Given the description of an element on the screen output the (x, y) to click on. 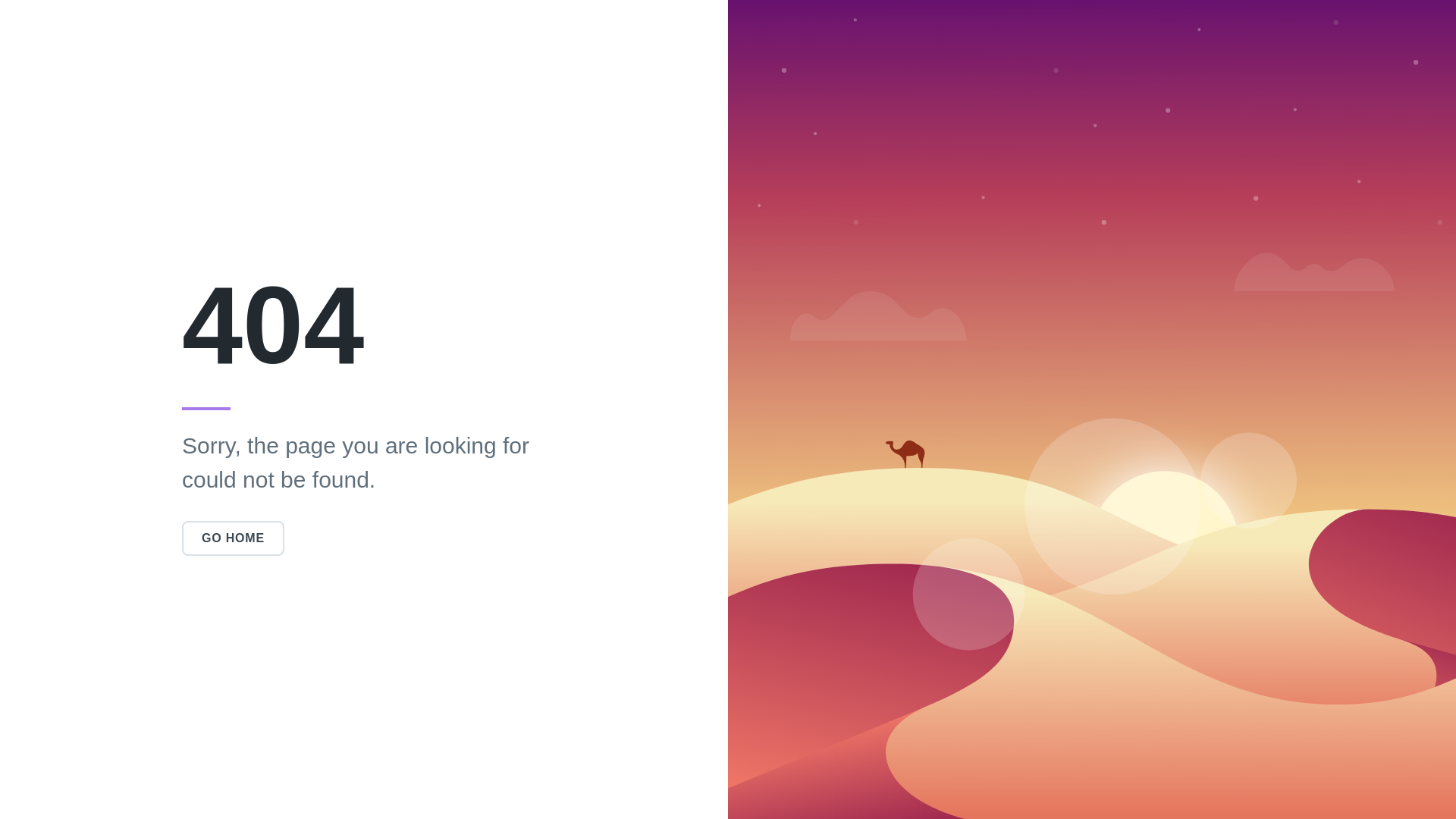
GO HOME Element type: text (233, 537)
GO HOME Element type: text (233, 537)
